Given the description of an element on the screen output the (x, y) to click on. 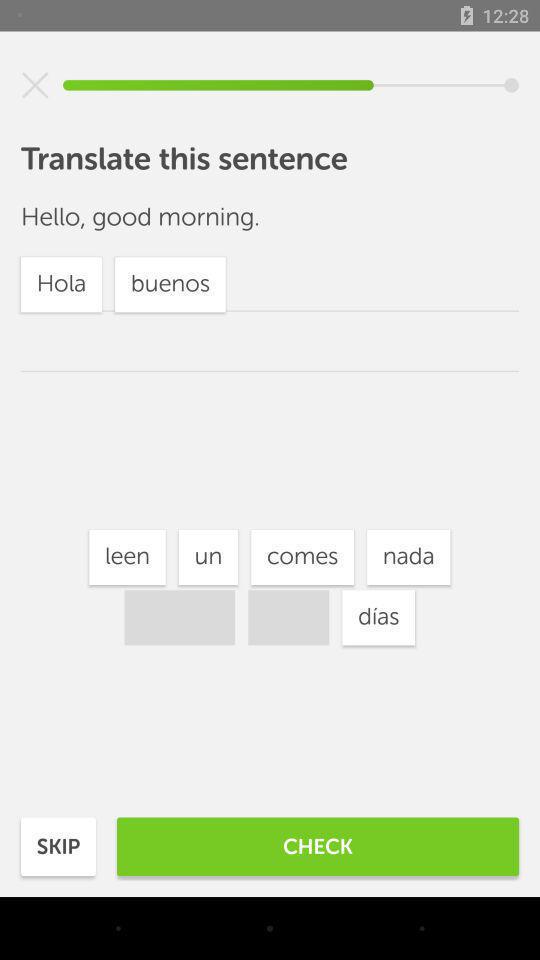
flip to the check icon (318, 846)
